Given the description of an element on the screen output the (x, y) to click on. 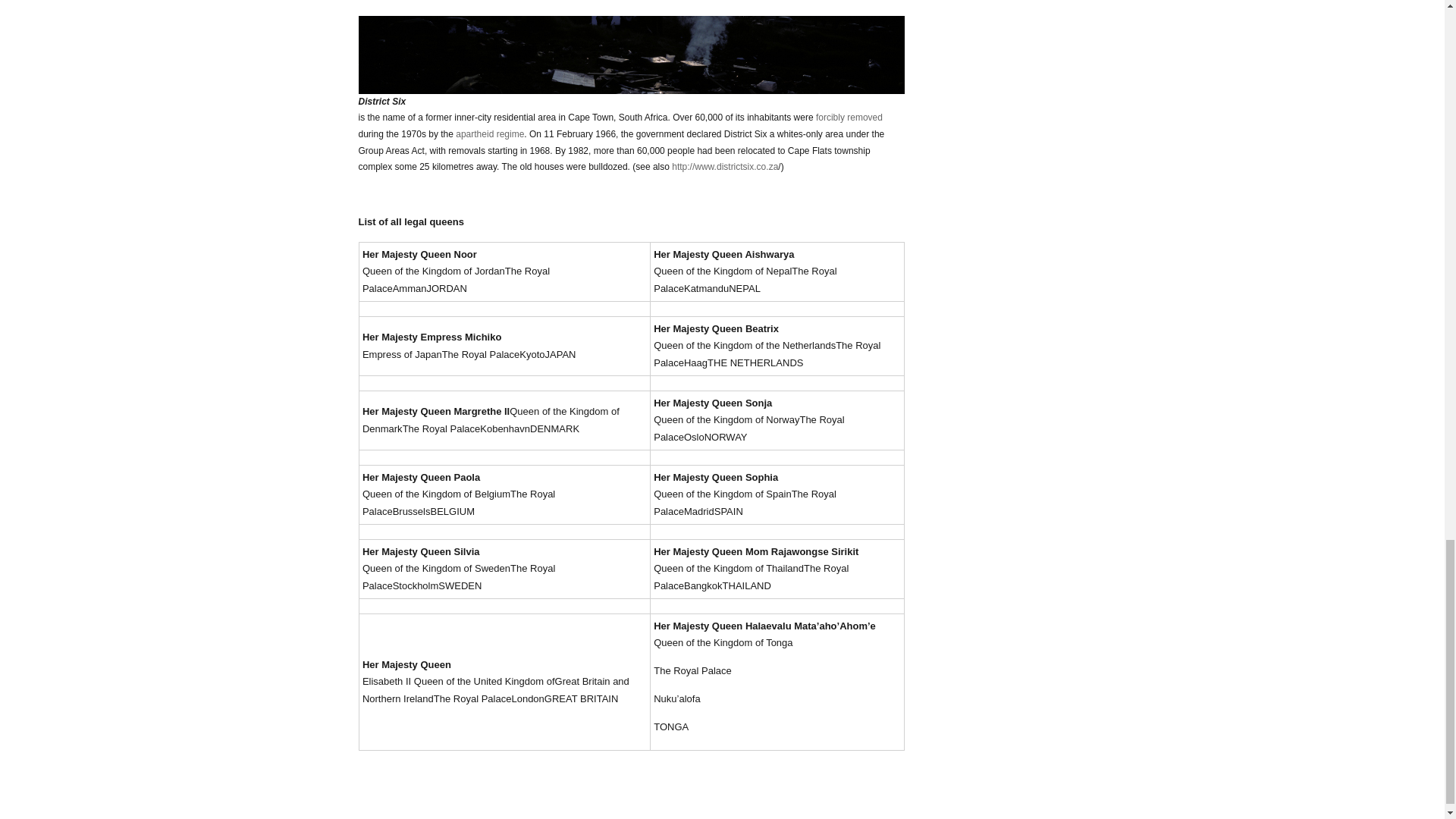
South Africa under apartheid (489, 133)
queen3 (631, 47)
History of South Africa in the Apartheid era (848, 117)
Group Areas Act (631, 88)
